Given the description of an element on the screen output the (x, y) to click on. 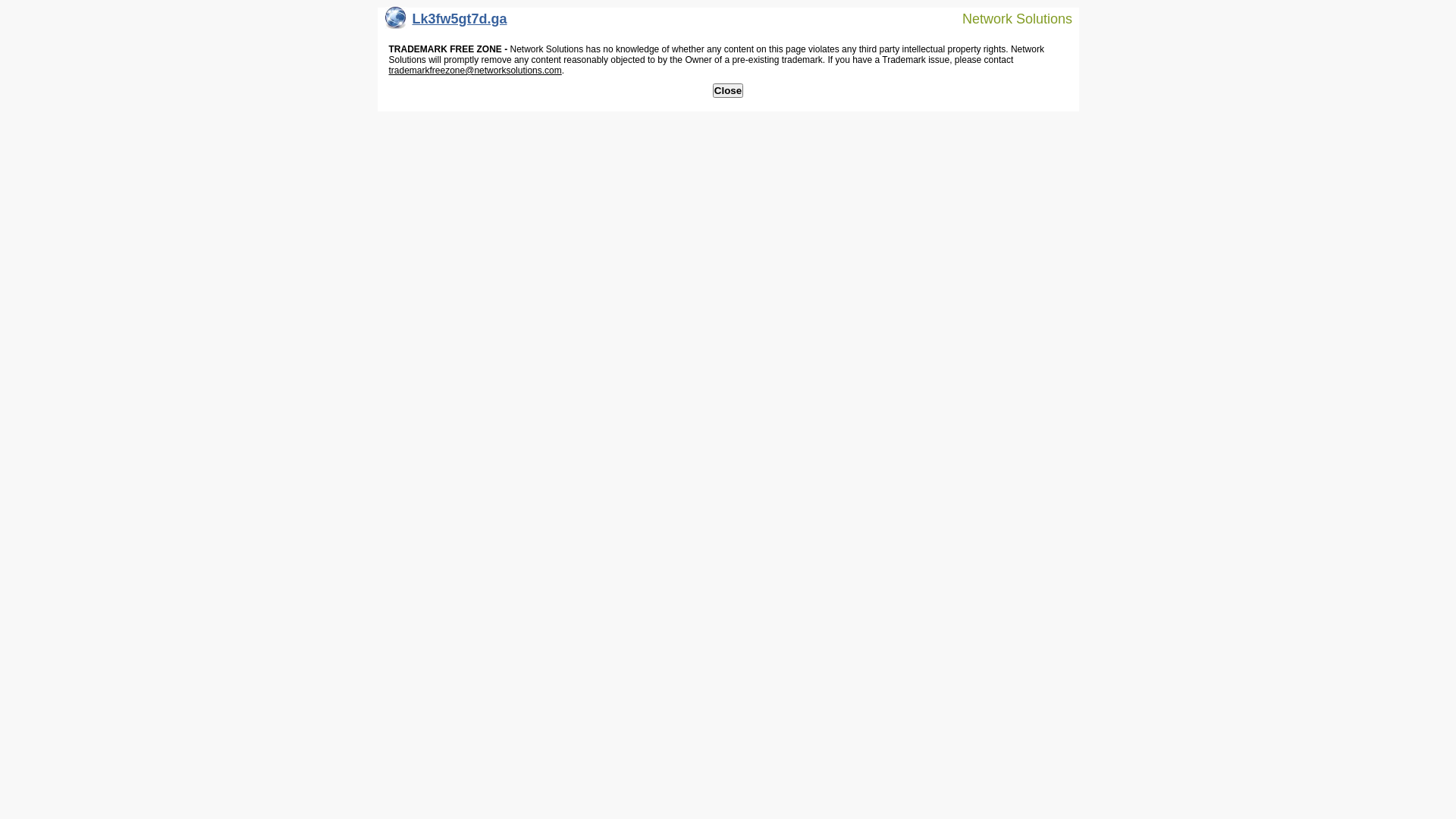
Network Solutions Element type: text (1007, 17)
Lk3fw5gt7d.ga Element type: text (446, 21)
Close Element type: text (727, 90)
trademarkfreezone@networksolutions.com Element type: text (474, 70)
